Given the description of an element on the screen output the (x, y) to click on. 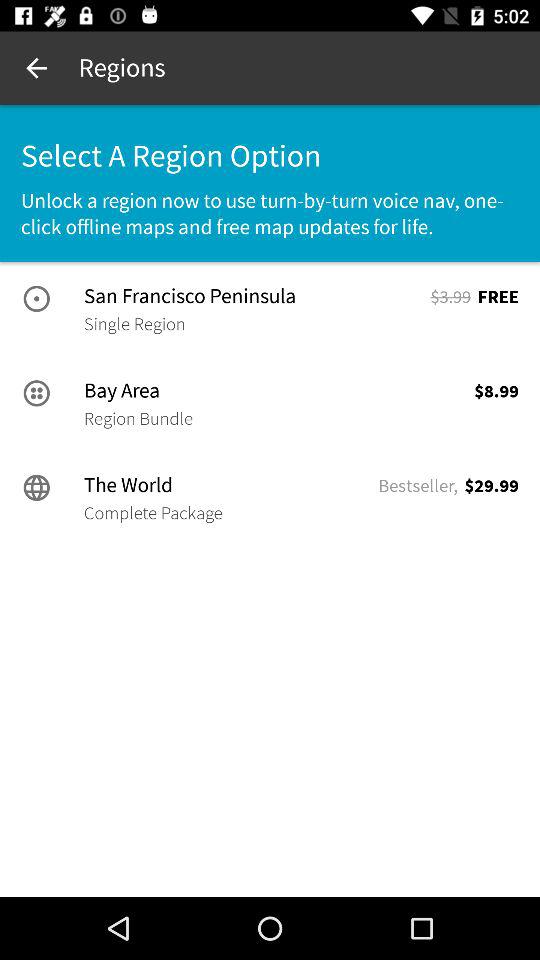
click icon above the select a region icon (36, 68)
